Given the description of an element on the screen output the (x, y) to click on. 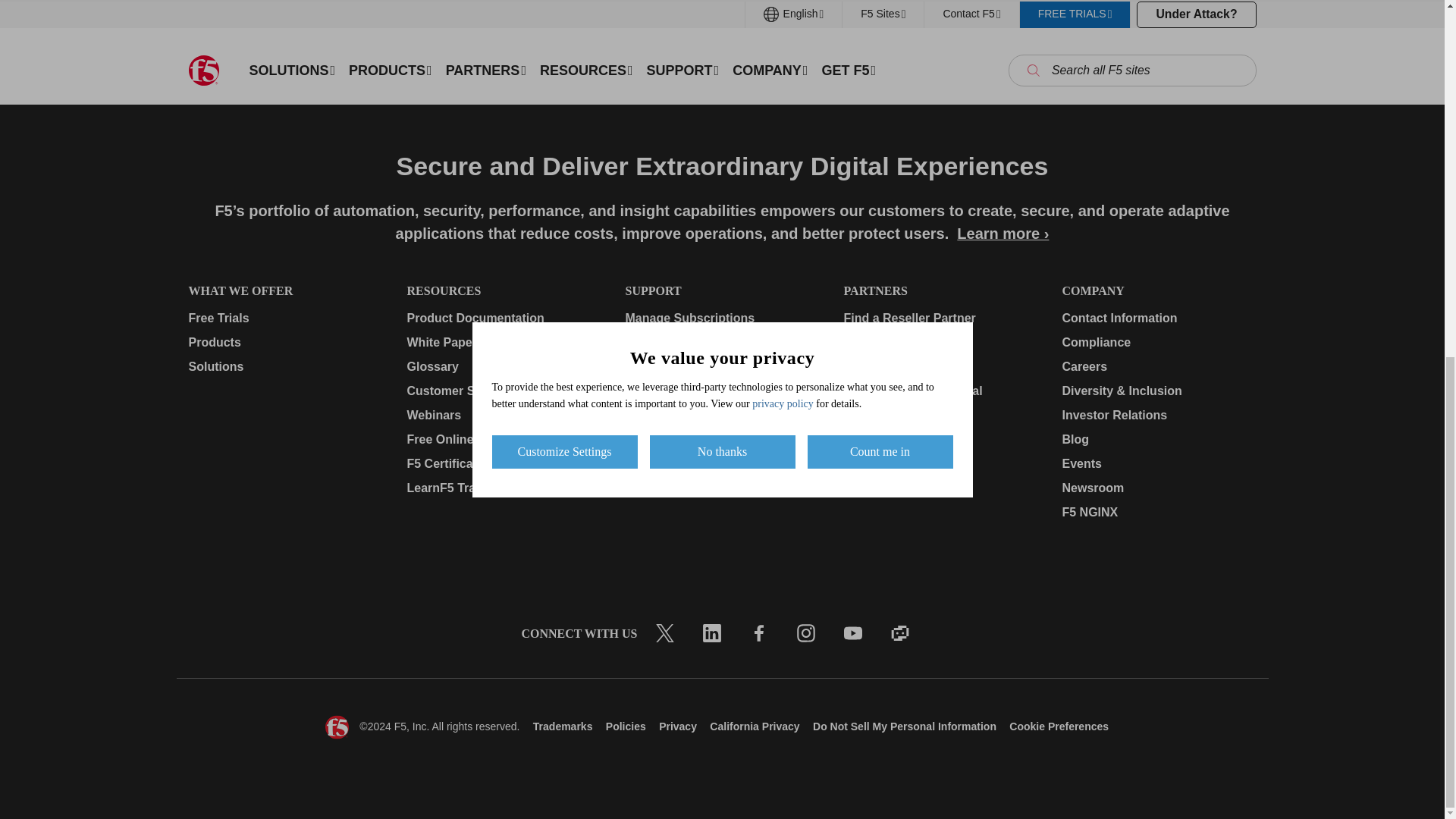
Free Online Courses (502, 439)
Customer Stories (502, 391)
Products (284, 342)
Free Trials (284, 318)
Webinars (502, 415)
BIG-IP Protocol Security Manager (612, 12)
Manage Subscriptions (721, 318)
Solutions (284, 366)
Glossary (502, 366)
White Papers (502, 342)
